Given the description of an element on the screen output the (x, y) to click on. 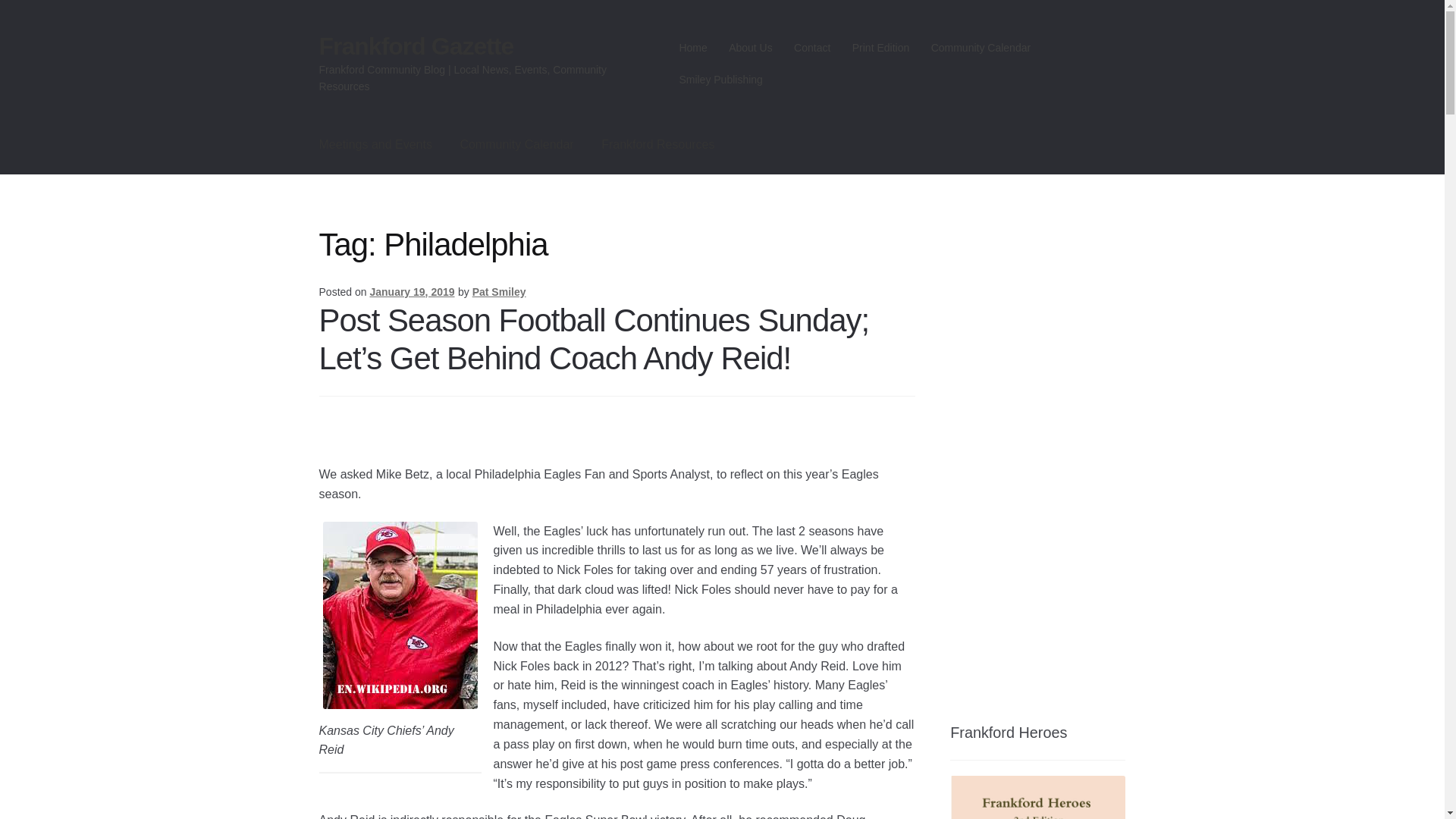
Smiley Publishing (720, 79)
Pat Smiley (498, 291)
Home (692, 47)
Frankford Gazette (415, 45)
Community Calendar (515, 144)
Contact (812, 47)
About Us (750, 47)
Community Calendar (980, 47)
January 19, 2019 (411, 291)
Print Edition (880, 47)
Frankford Resources (657, 144)
Meetings and Events (375, 144)
